Given the description of an element on the screen output the (x, y) to click on. 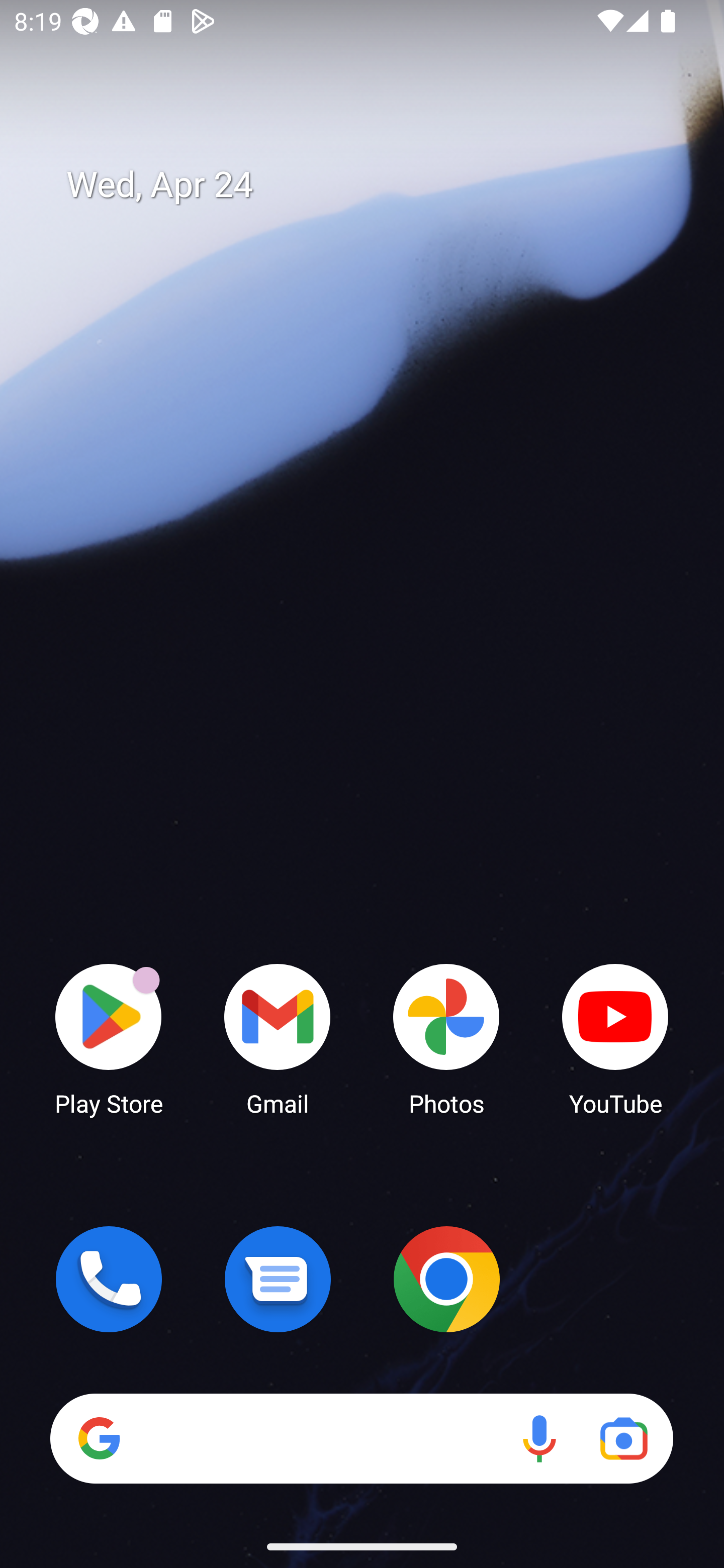
Wed, Apr 24 (375, 184)
Play Store Play Store has 1 notification (108, 1038)
Gmail (277, 1038)
Photos (445, 1038)
YouTube (615, 1038)
Phone (108, 1279)
Messages (277, 1279)
Chrome (446, 1279)
Search Voice search Google Lens (361, 1438)
Voice search (539, 1438)
Google Lens (623, 1438)
